Given the description of an element on the screen output the (x, y) to click on. 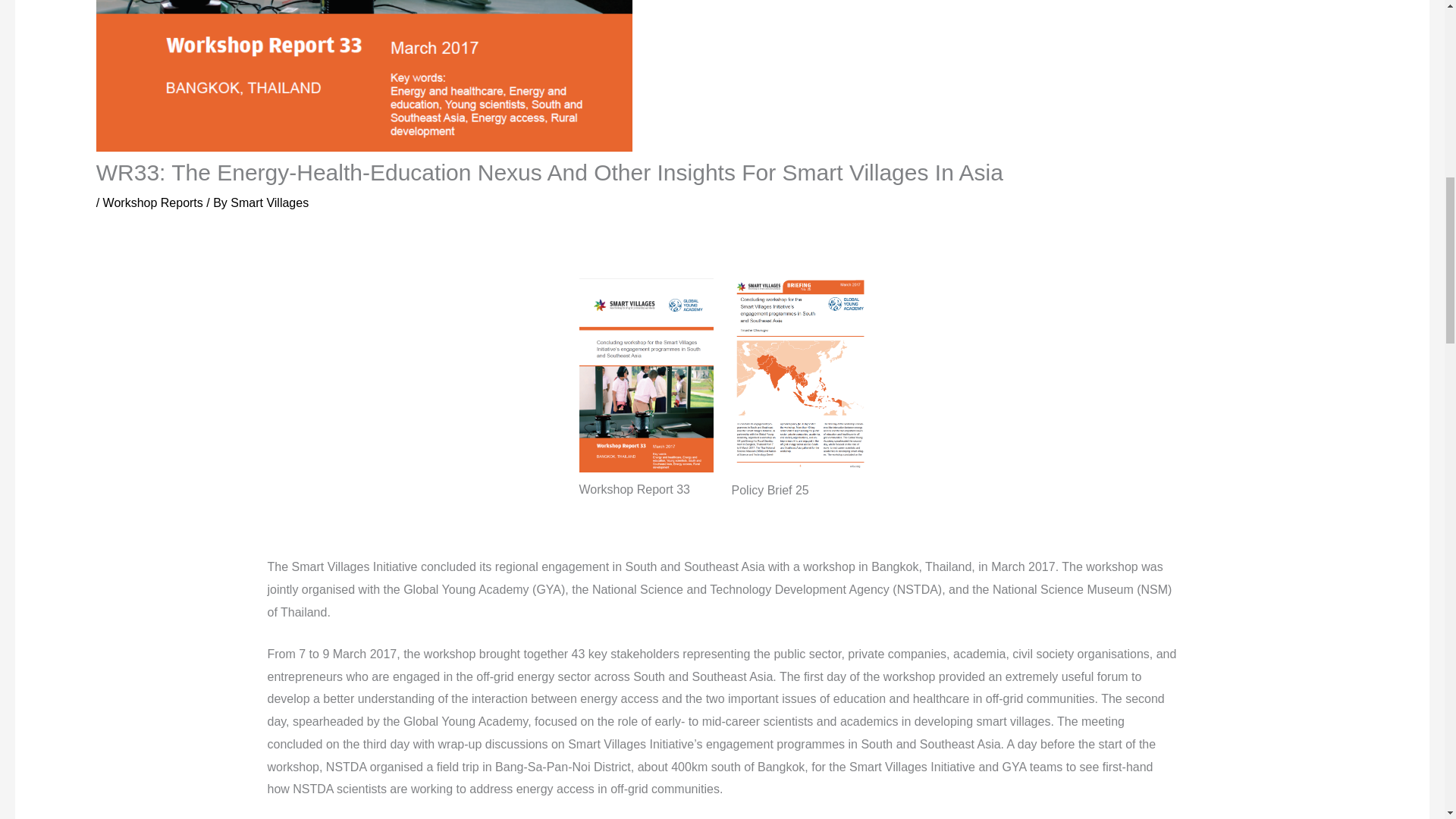
cover wr33 bangkok (646, 461)
cover br25 bangkok (800, 461)
View all posts by Smart Villages (269, 202)
